Given the description of an element on the screen output the (x, y) to click on. 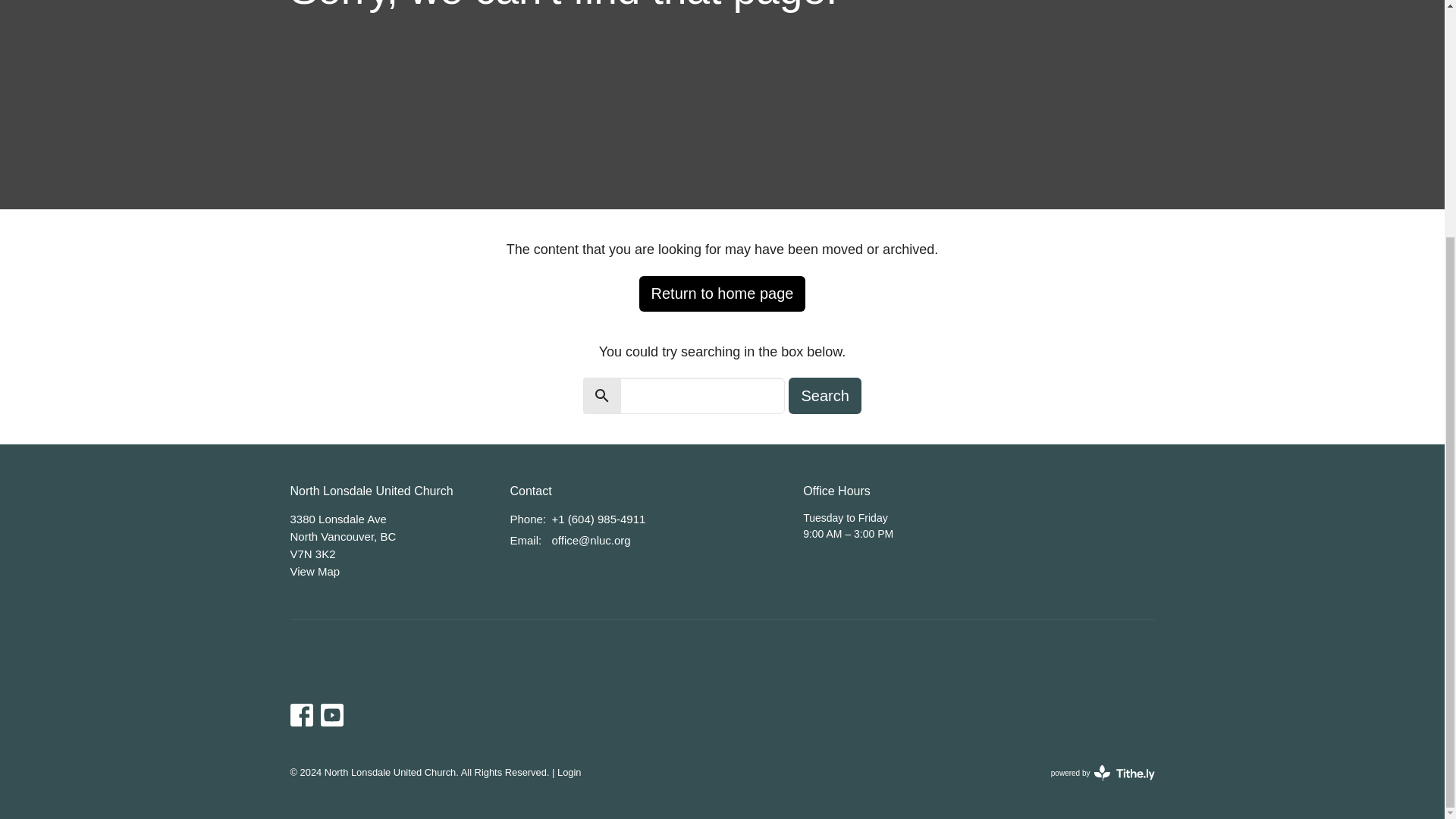
translation missing: en.ui.email (523, 540)
Return to home page (722, 294)
Search (824, 395)
View Map (1102, 772)
Login (314, 571)
